Given the description of an element on the screen output the (x, y) to click on. 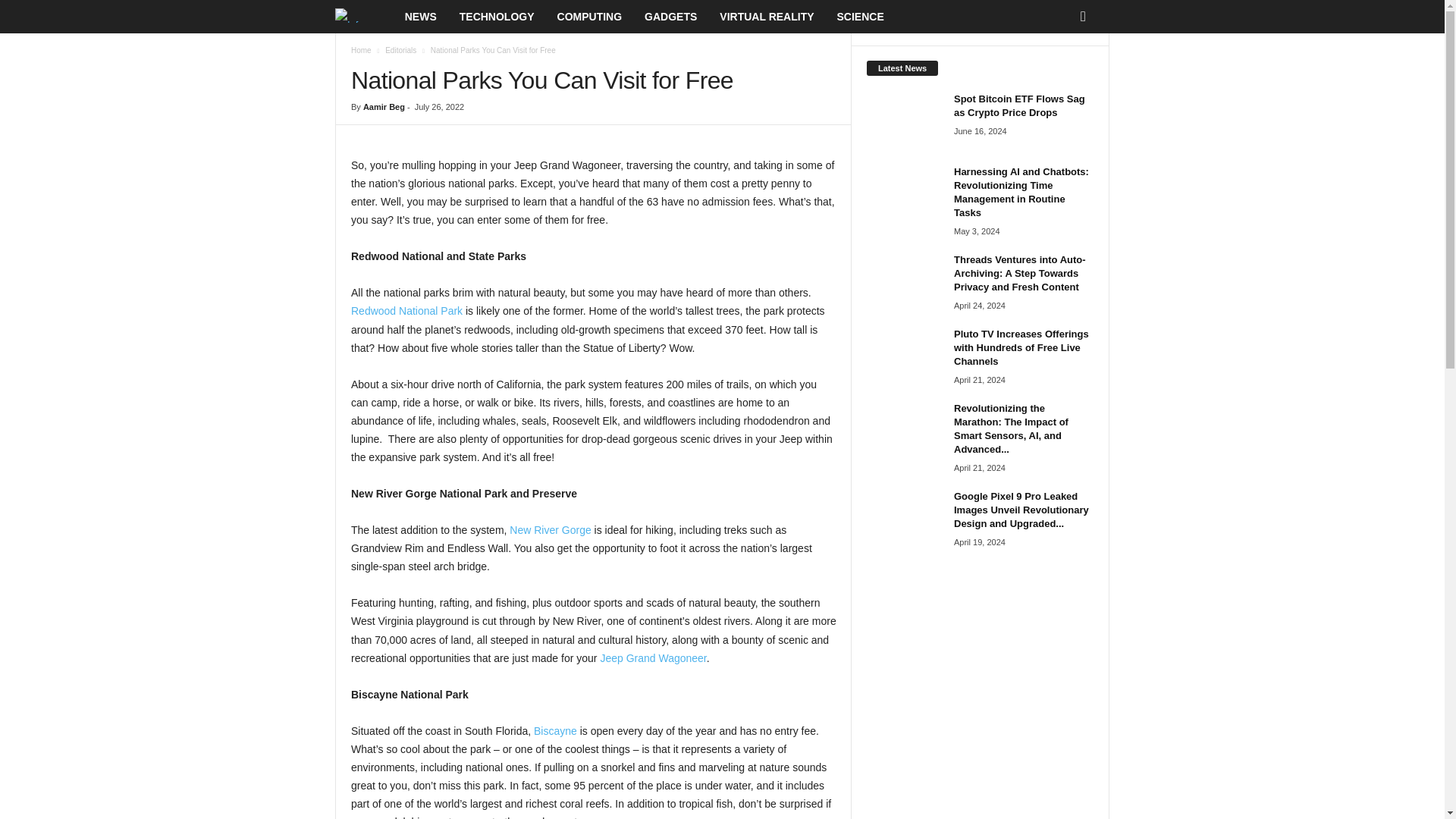
GADGETS (670, 16)
Home (360, 49)
Spot Bitcoin ETF Flows Sag as Crypto Price Drops (904, 120)
Redwood National Park (406, 310)
NEWS (420, 16)
View all posts in Editorials (400, 49)
VIRTUAL REALITY (766, 16)
SCIENCE (860, 16)
New River Gorge (550, 530)
Biscayne (555, 730)
Jeep Grand Wagoneer (652, 657)
COMPUTING (589, 16)
Inferse.com (363, 16)
Inferse (355, 15)
TECHNOLOGY (497, 16)
